Given the description of an element on the screen output the (x, y) to click on. 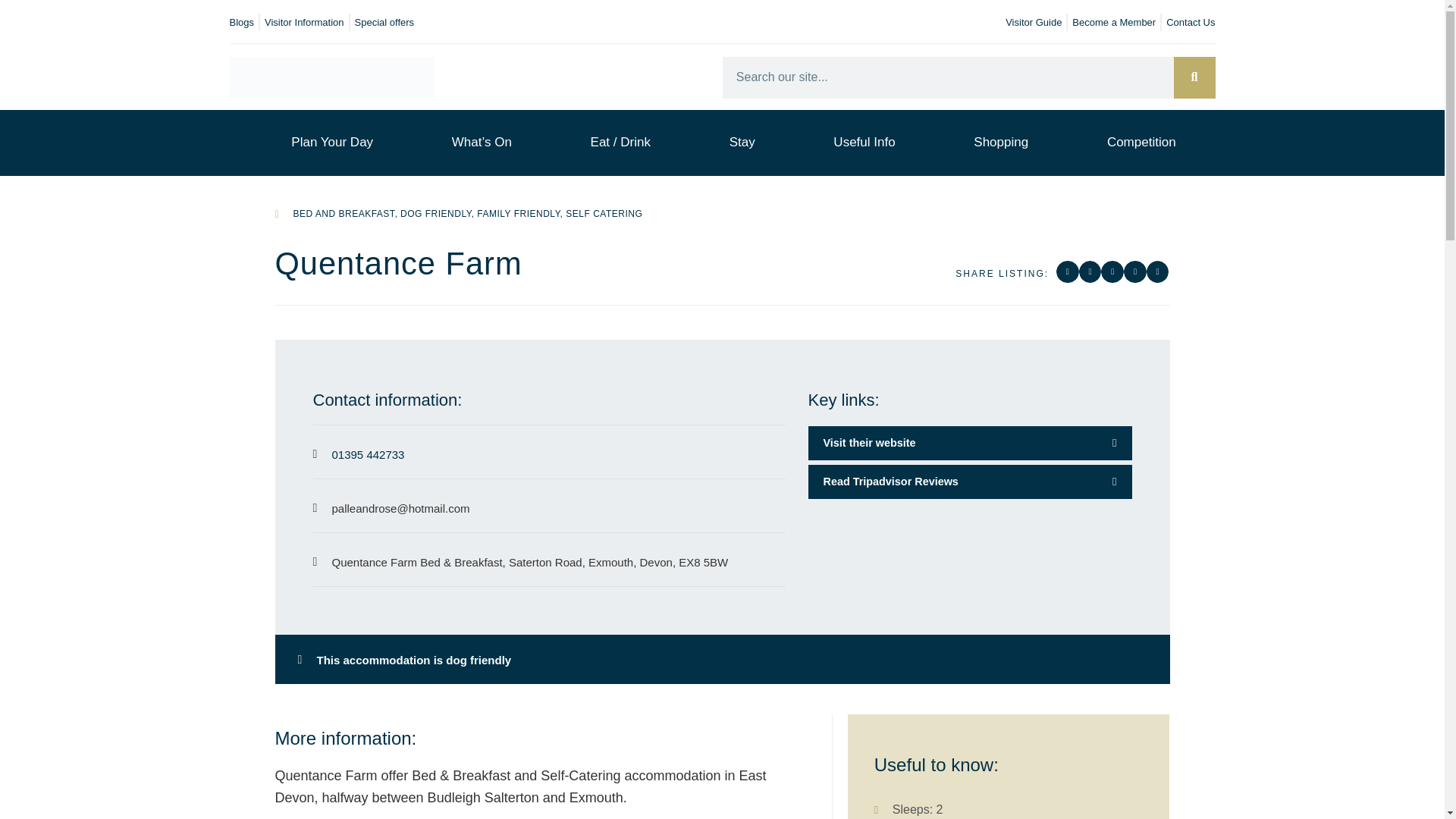
Visitor Guide (1033, 22)
Contact Us (1190, 22)
Visitor Information (303, 22)
Plan Your Day (331, 142)
Stay (742, 142)
Become a Member (1113, 22)
Blogs (240, 22)
Special offers (384, 22)
